Given the description of an element on the screen output the (x, y) to click on. 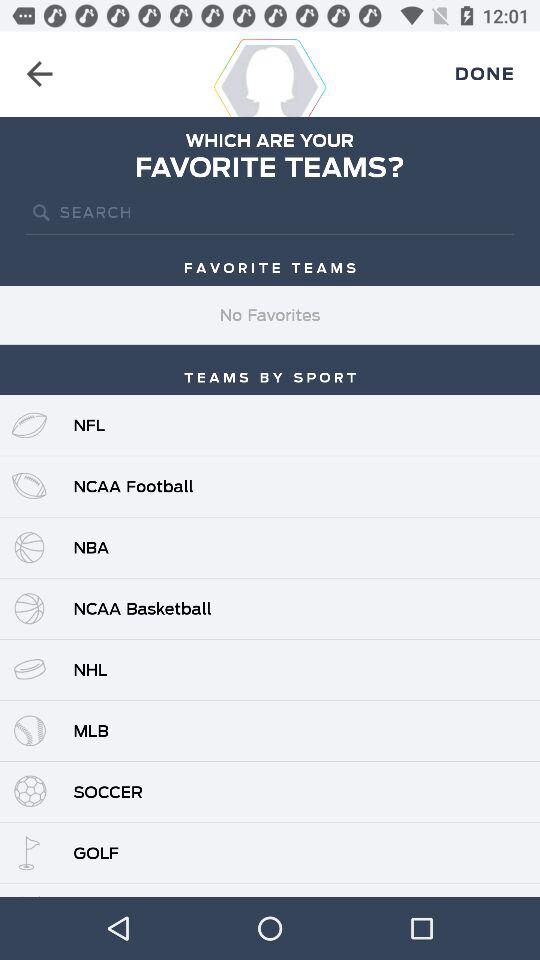
tap the item at the top left corner (39, 73)
